Given the description of an element on the screen output the (x, y) to click on. 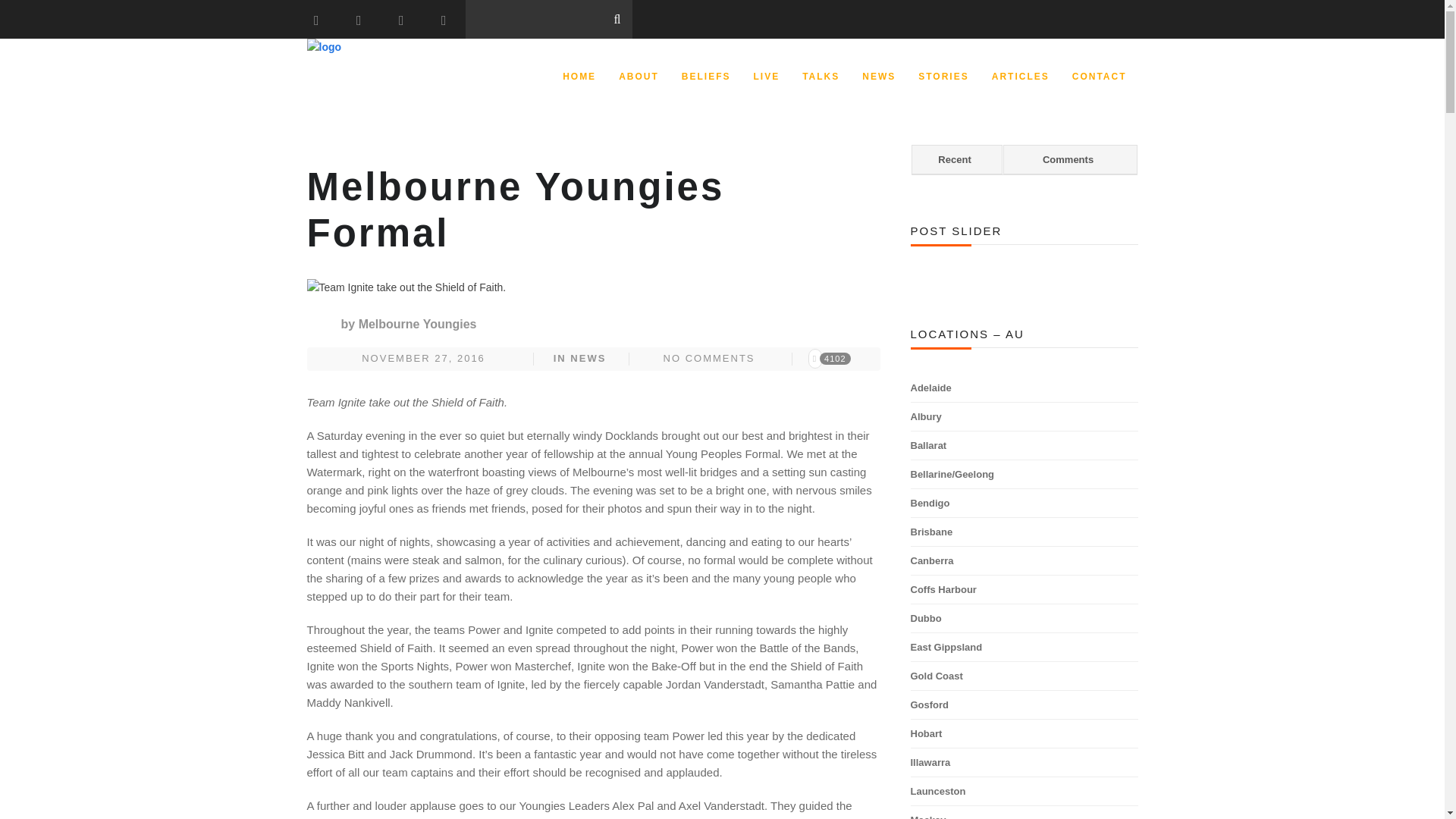
ARTICLES (1020, 76)
Posts by Melbourne Youngies (417, 323)
BELIEFS (705, 76)
STORIES (943, 76)
Melbourne Youngies (417, 323)
CONTACT (1099, 76)
NEWS (587, 357)
